Given the description of an element on the screen output the (x, y) to click on. 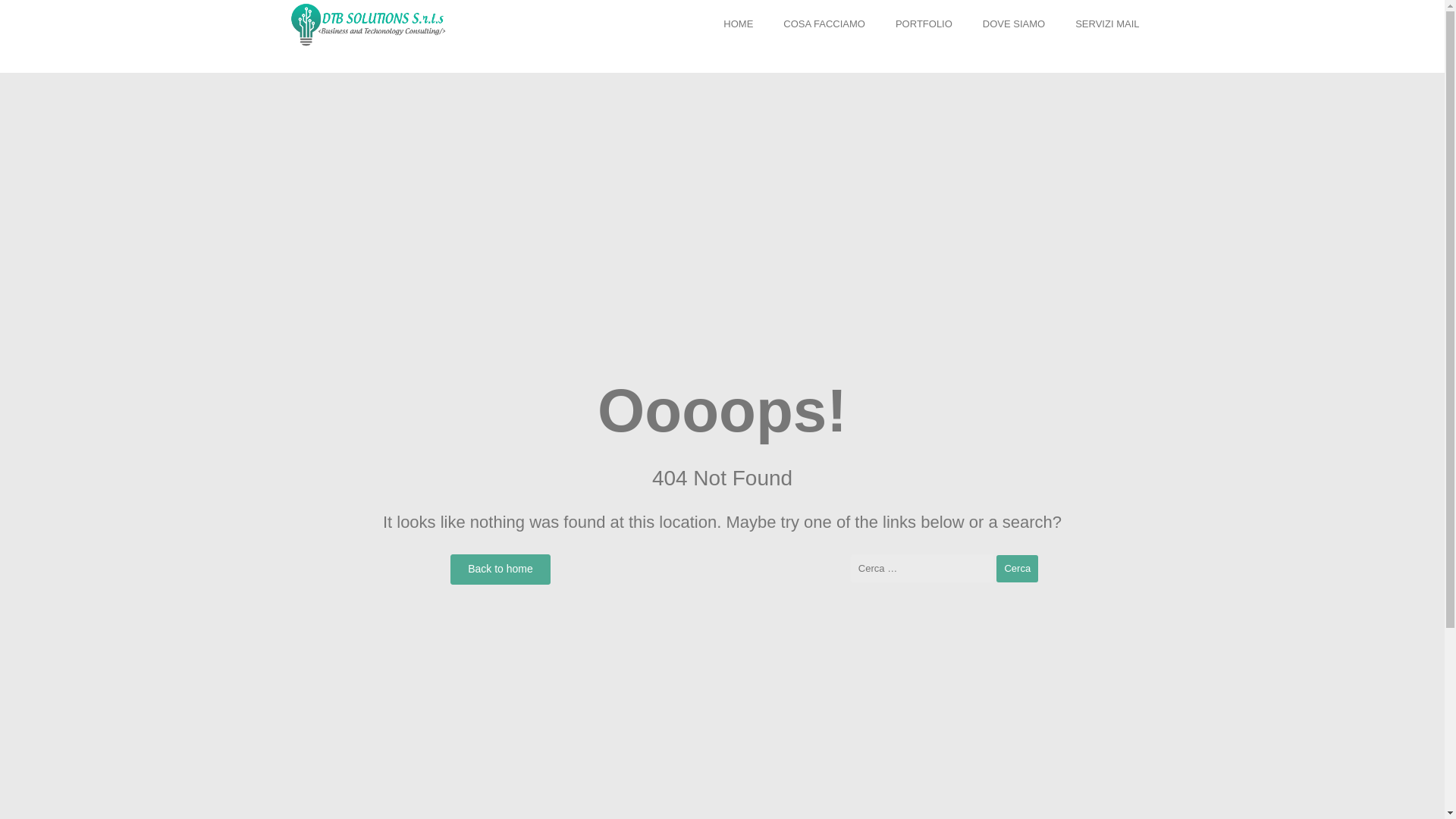
Back to home (499, 569)
Cerca (1016, 569)
Servizi Mail (1107, 24)
Portfolio (923, 24)
Dove Siamo (1014, 24)
Cosa Facciamo (823, 24)
HOME (737, 24)
Cerca (1016, 569)
DOVE SIAMO (1014, 24)
Cerca (1016, 569)
SERVIZI MAIL (1107, 24)
COSA FACCIAMO (823, 24)
PORTFOLIO (923, 24)
HOME (737, 24)
